Given the description of an element on the screen output the (x, y) to click on. 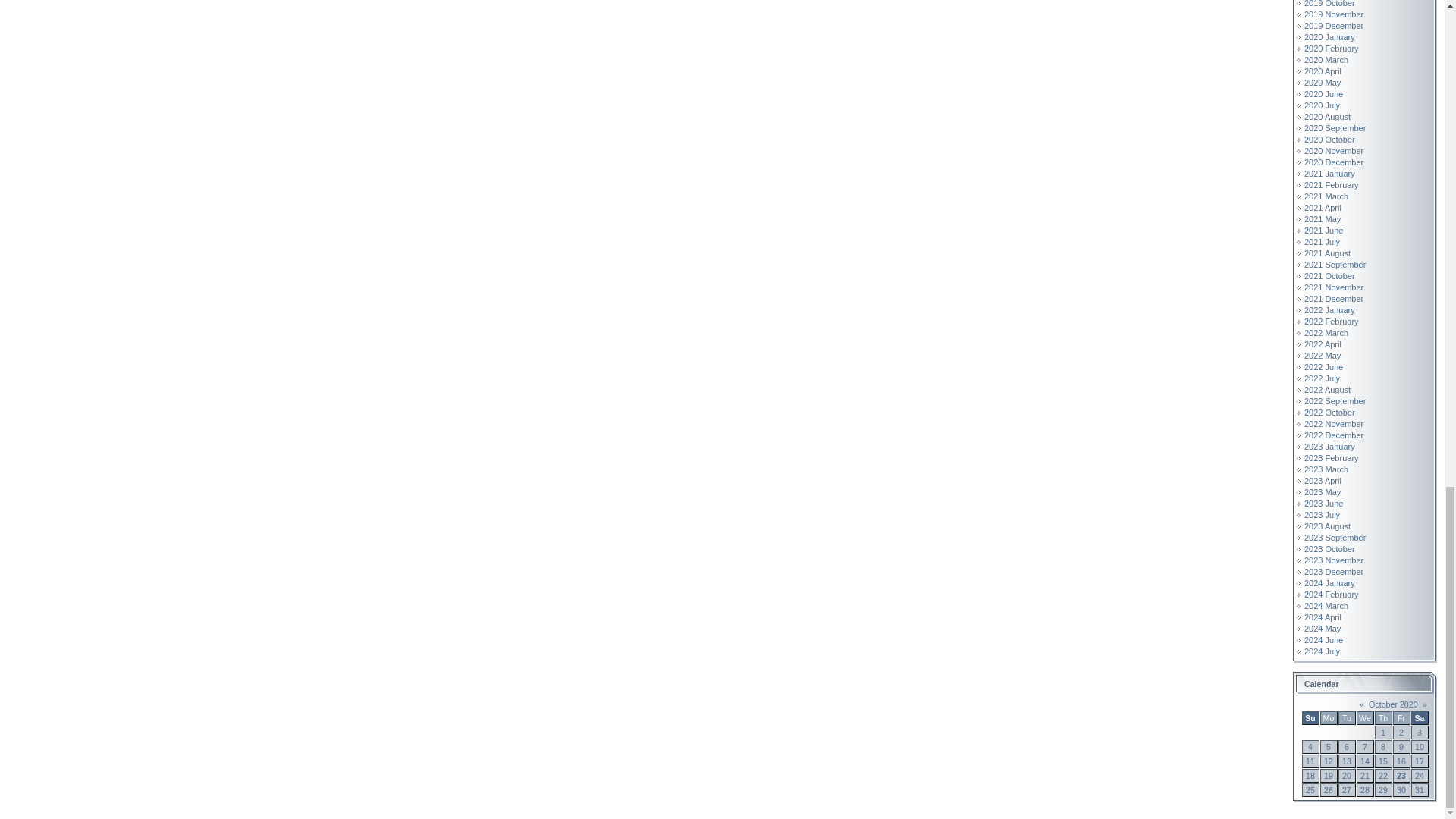
8 Messages (1419, 746)
10 Messages (1382, 760)
7 Messages (1419, 760)
10 Messages (1364, 760)
7 Messages (1346, 760)
3 Messages (1401, 760)
1 Messages (1328, 760)
4 Messages (1310, 760)
